Given the description of an element on the screen output the (x, y) to click on. 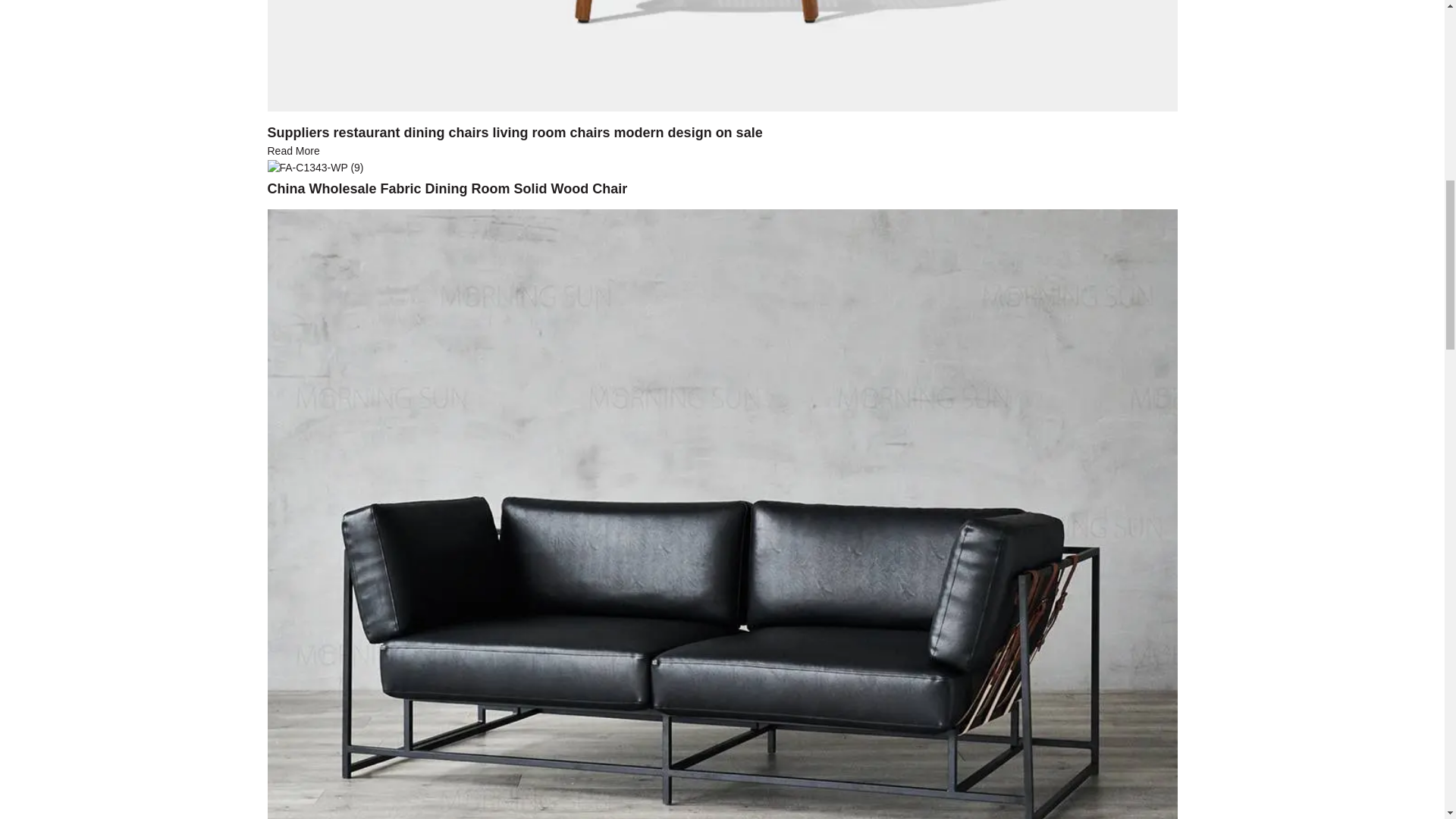
China Wholesale Fabric Dining Room Solid Wood Chair (314, 166)
2 Seats Living Room Leather Sofa (721, 548)
China Wholesale Fabric Dining Room Solid Wood Chair (446, 188)
